Given the description of an element on the screen output the (x, y) to click on. 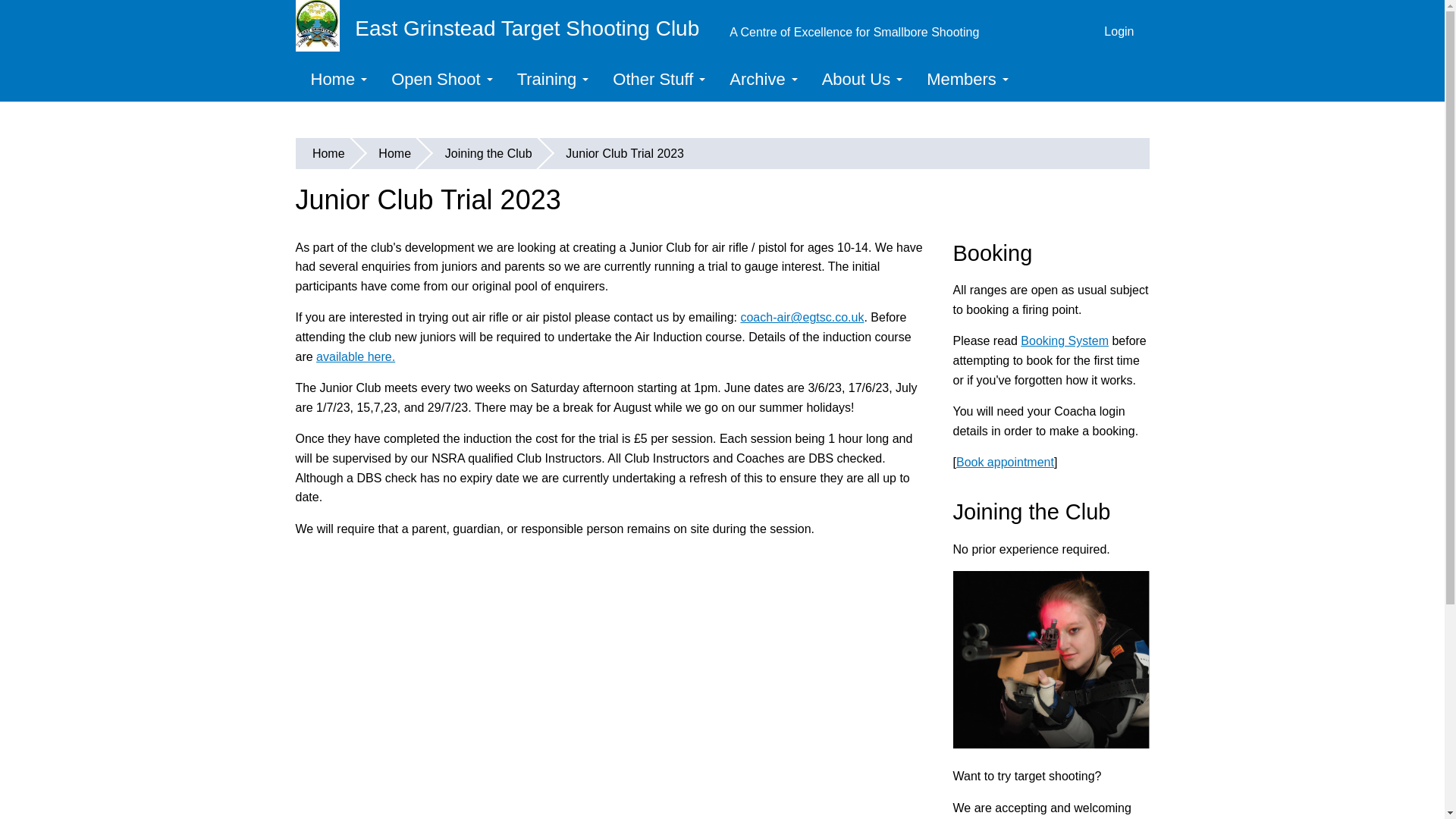
Other Stuff (655, 79)
Login (1118, 25)
Home (336, 79)
East Grinstead Target Shooting Club (504, 25)
Archive (760, 79)
Home (504, 25)
Open Shoot (437, 79)
Training (550, 79)
About Us (859, 79)
